Given the description of an element on the screen output the (x, y) to click on. 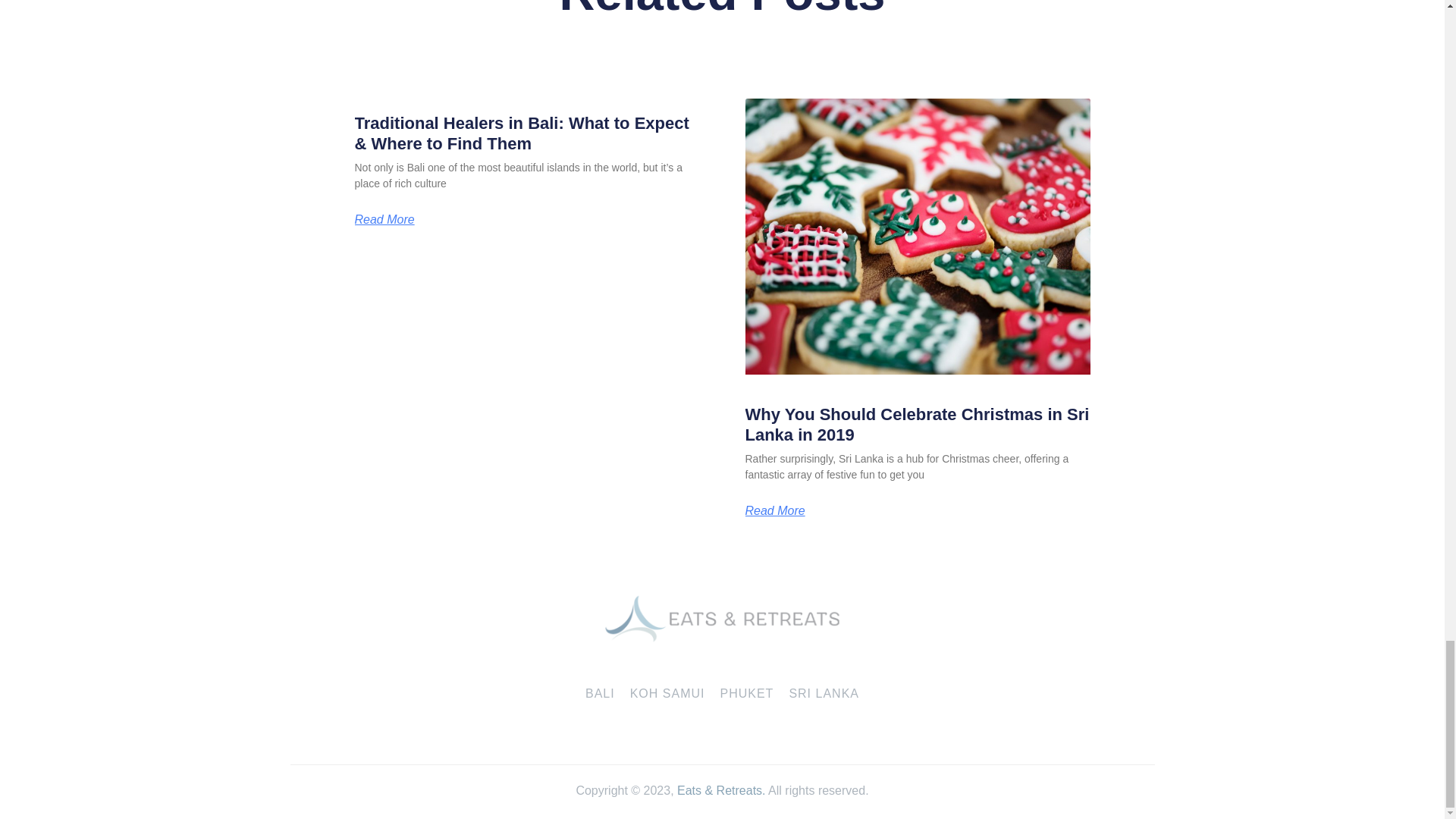
Read More (774, 510)
KOH SAMUI (668, 693)
Read More (384, 219)
BALI (600, 693)
PHUKET (745, 693)
SRI LANKA (823, 693)
Why You Should Celebrate Christmas in Sri Lanka in 2019 (916, 423)
